Given the description of an element on the screen output the (x, y) to click on. 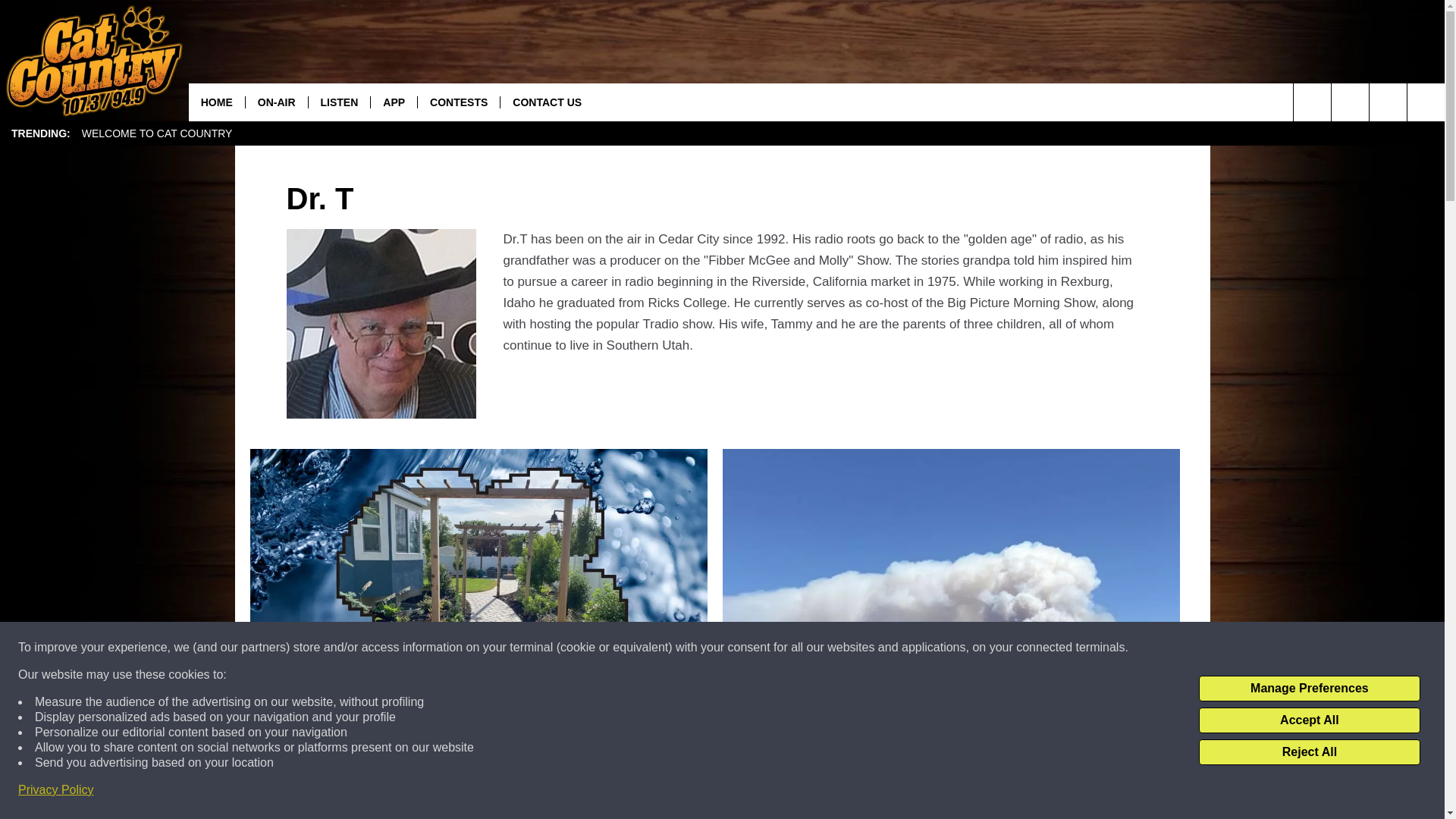
ON-AIR (275, 102)
Accept All (1309, 720)
APP (392, 102)
CONTESTS (457, 102)
Reject All (1309, 751)
LISTEN (339, 102)
CONTACT US (546, 102)
WELCOME TO CAT COUNTRY (156, 133)
HOME (216, 102)
Manage Preferences (1309, 688)
Privacy Policy (55, 789)
